Given the description of an element on the screen output the (x, y) to click on. 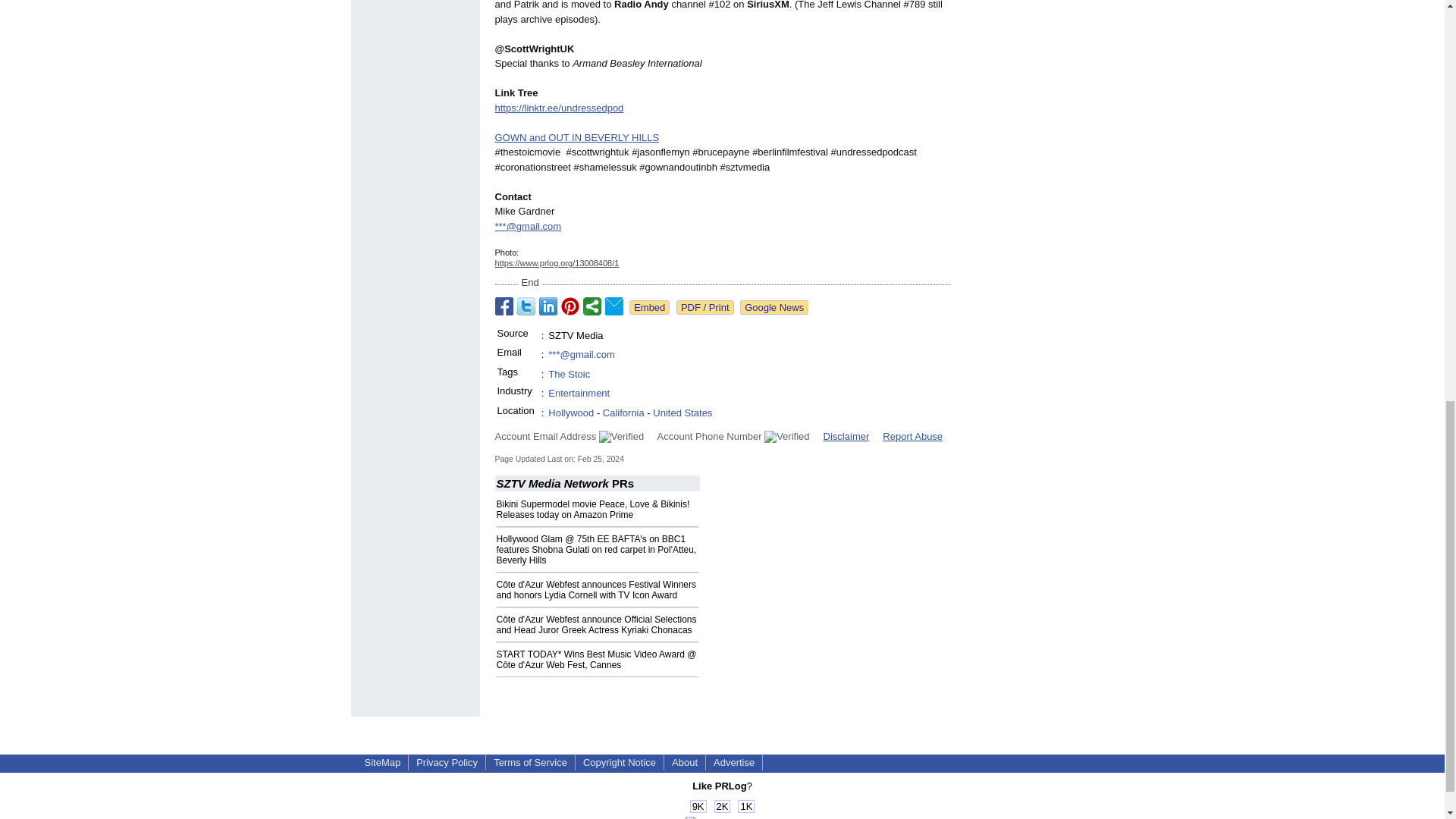
Share on Twitter (525, 306)
Embed (648, 307)
Embed this press release in your website! (648, 307)
Share this page! (721, 817)
Verified (786, 436)
Email to a Friend (614, 306)
GOWN and OUT IN BEVERLY HILLS (577, 137)
Share on StumbleUpon, Digg, etc (590, 306)
See or print the PDF version! (705, 307)
